Given the description of an element on the screen output the (x, y) to click on. 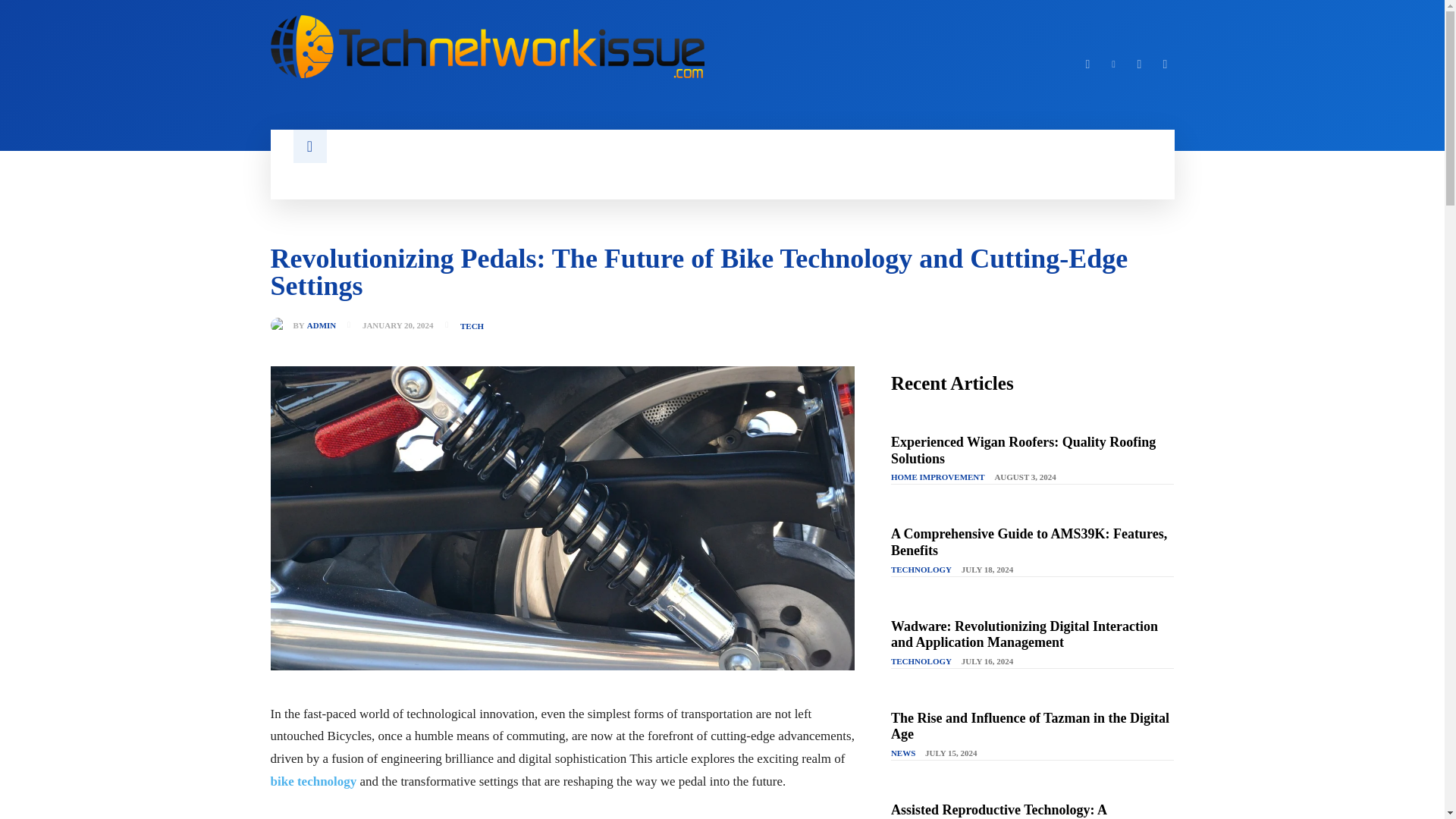
TECHNOLOGY (921, 570)
Youtube (1164, 64)
NEWS (903, 753)
HOME IMPROVEMENT (938, 477)
The Rise and Influence of Tazman in the Digital Age (1030, 726)
TECHNOLOGY (921, 662)
Assisted Reproductive Technology: A Comprehensive Guide (998, 810)
ADMIN (321, 325)
The Rise and Influence of Tazman in the Digital Age (1030, 726)
Experienced Wigan Roofers: Quality Roofing Solutions (1023, 450)
